Given the description of an element on the screen output the (x, y) to click on. 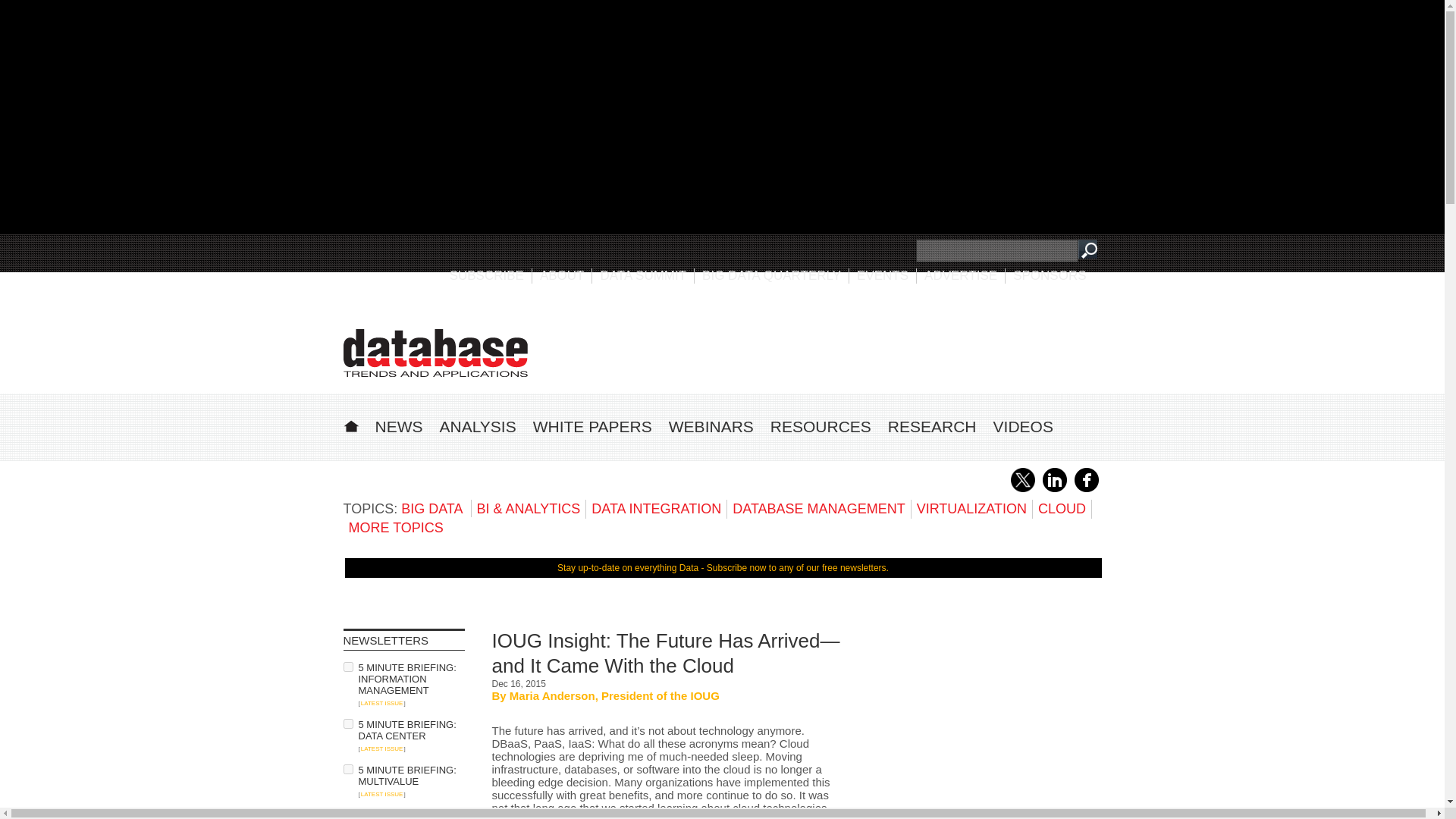
ADVERTISE (960, 275)
EVENTS (882, 275)
on (347, 768)
SUBSCRIBE (486, 275)
DBTA on Twitter (1021, 489)
on (347, 814)
DBTA (434, 352)
RESOURCES (820, 425)
HOME (350, 424)
ANALYSIS (477, 425)
